Given the description of an element on the screen output the (x, y) to click on. 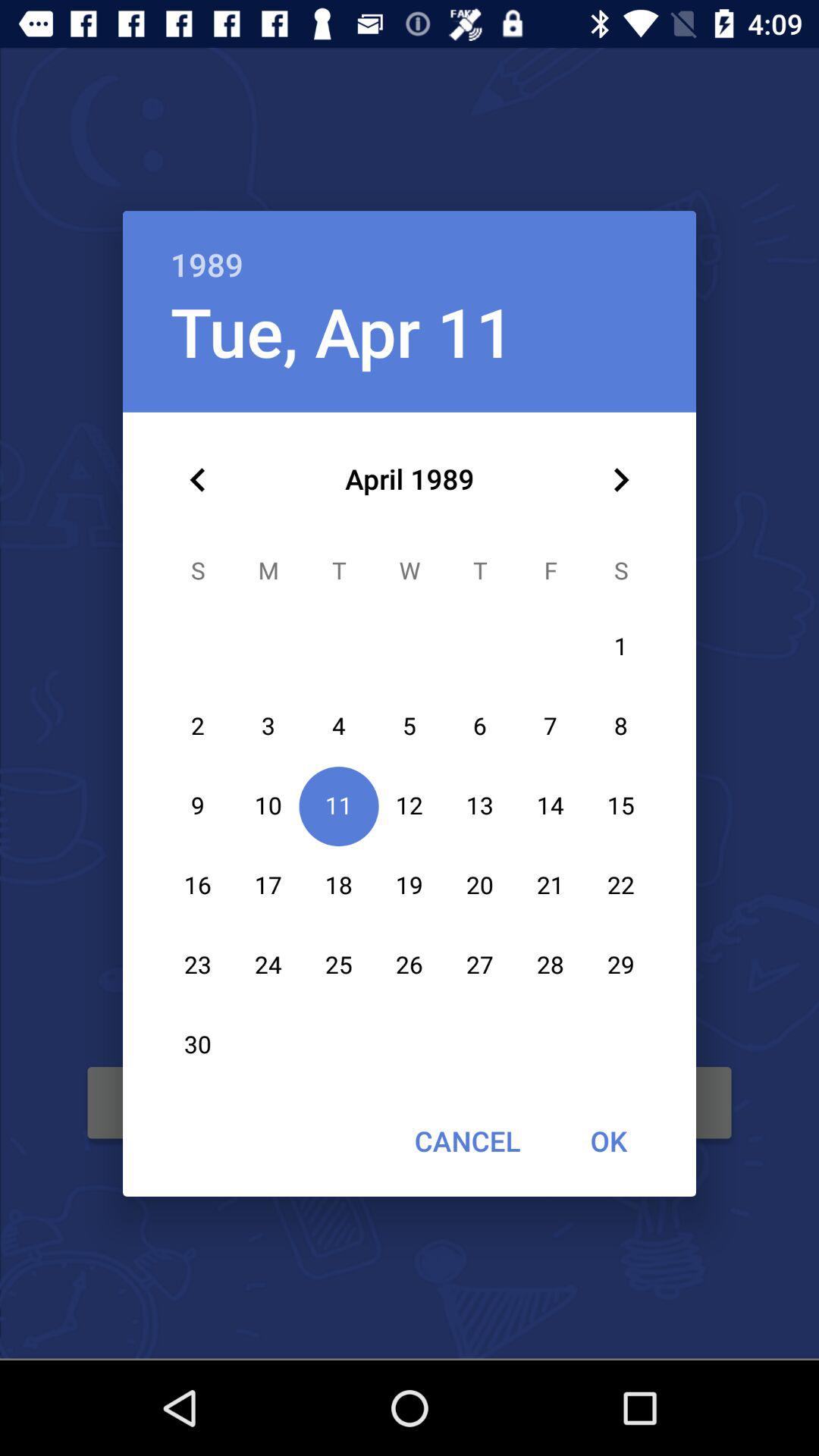
tap item next to the cancel (608, 1140)
